Given the description of an element on the screen output the (x, y) to click on. 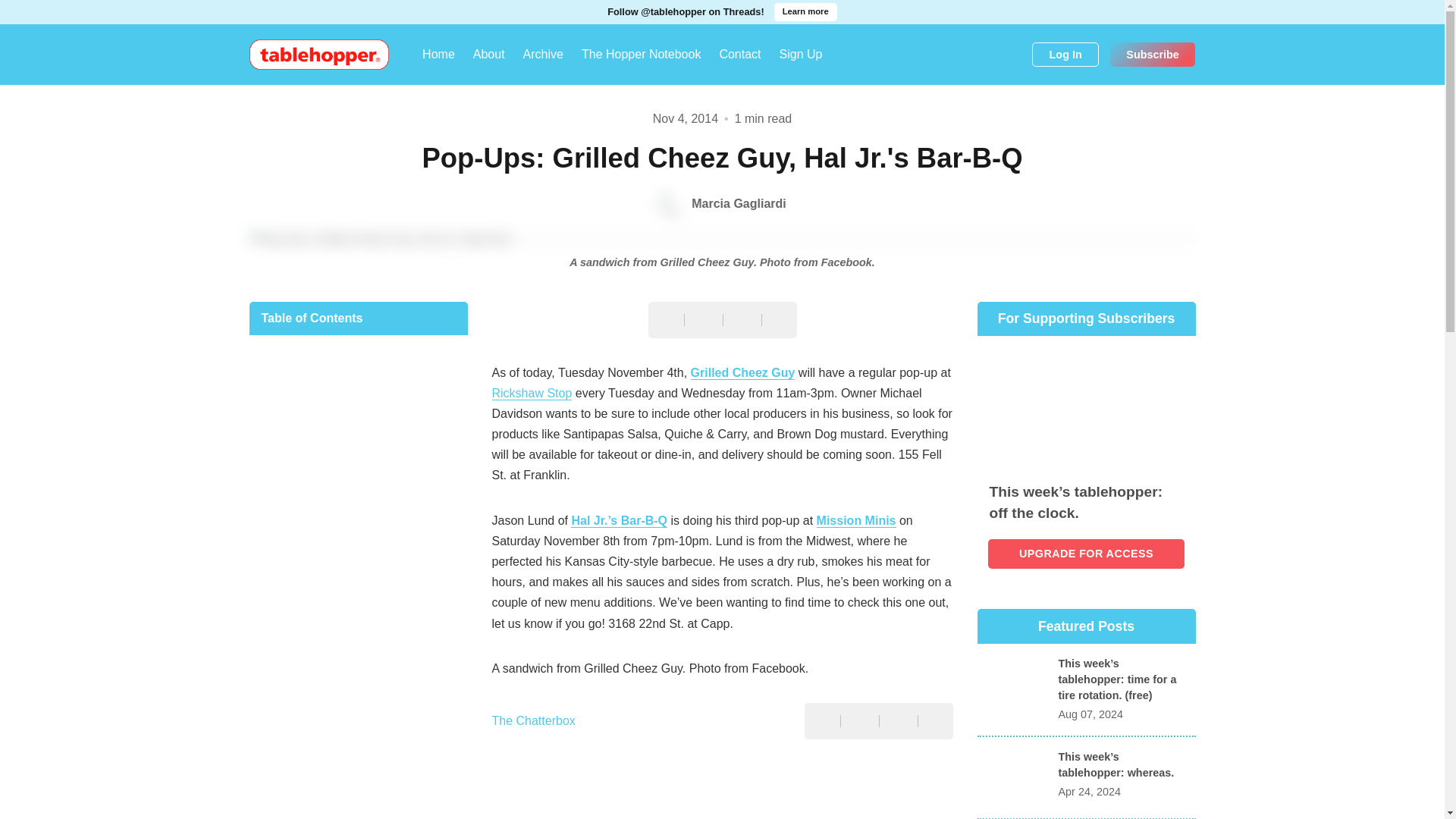
Subscribe (1152, 54)
Sign Up (800, 54)
Marcia Gagliardi (722, 203)
Search (1014, 54)
Learn more (805, 12)
Mission Minis (856, 520)
Share on Twitter (702, 321)
Contact (740, 54)
Share by email (741, 321)
The Hopper Notebook (641, 54)
